Given the description of an element on the screen output the (x, y) to click on. 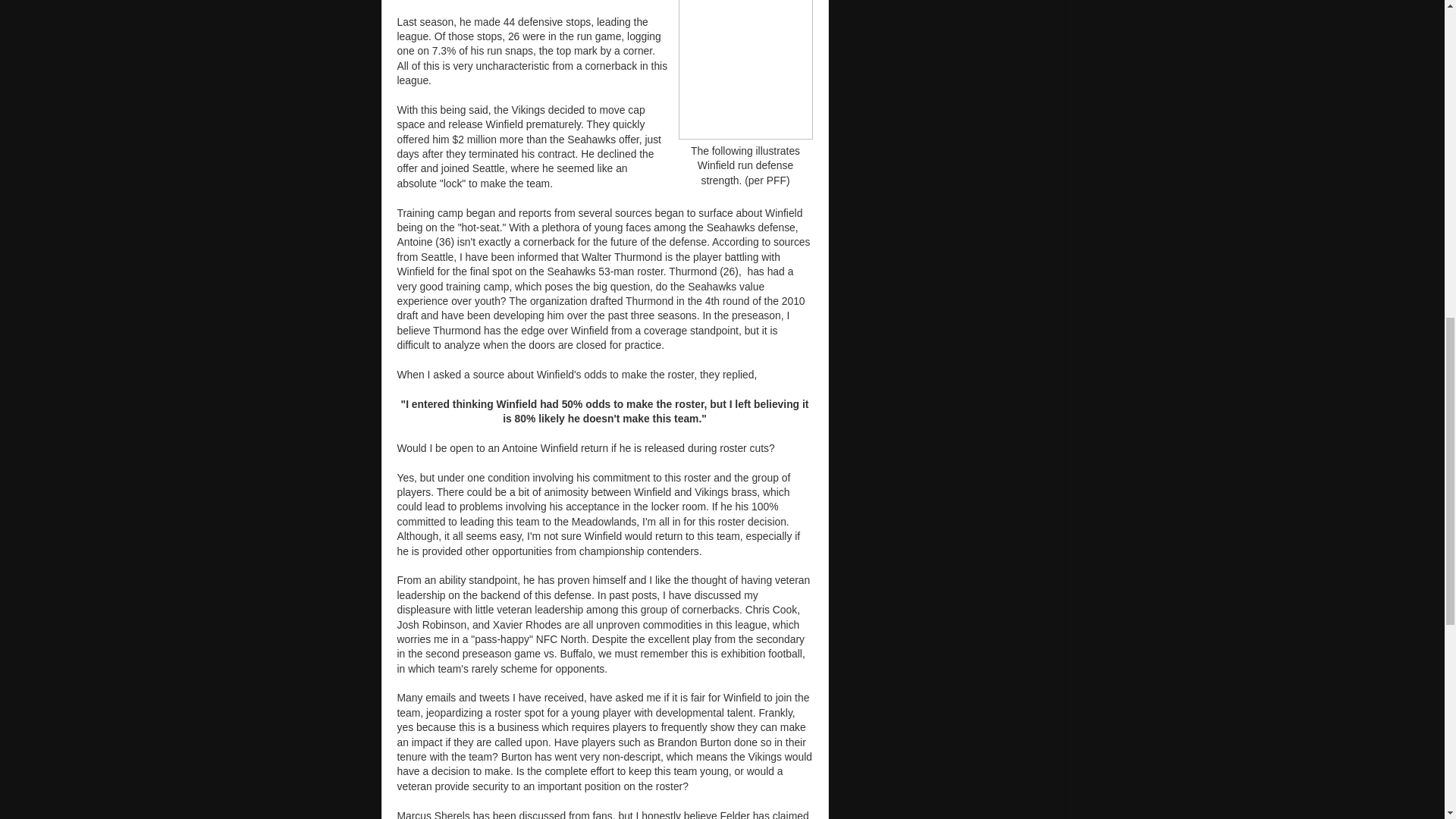
winfield1 (745, 69)
